Given the description of an element on the screen output the (x, y) to click on. 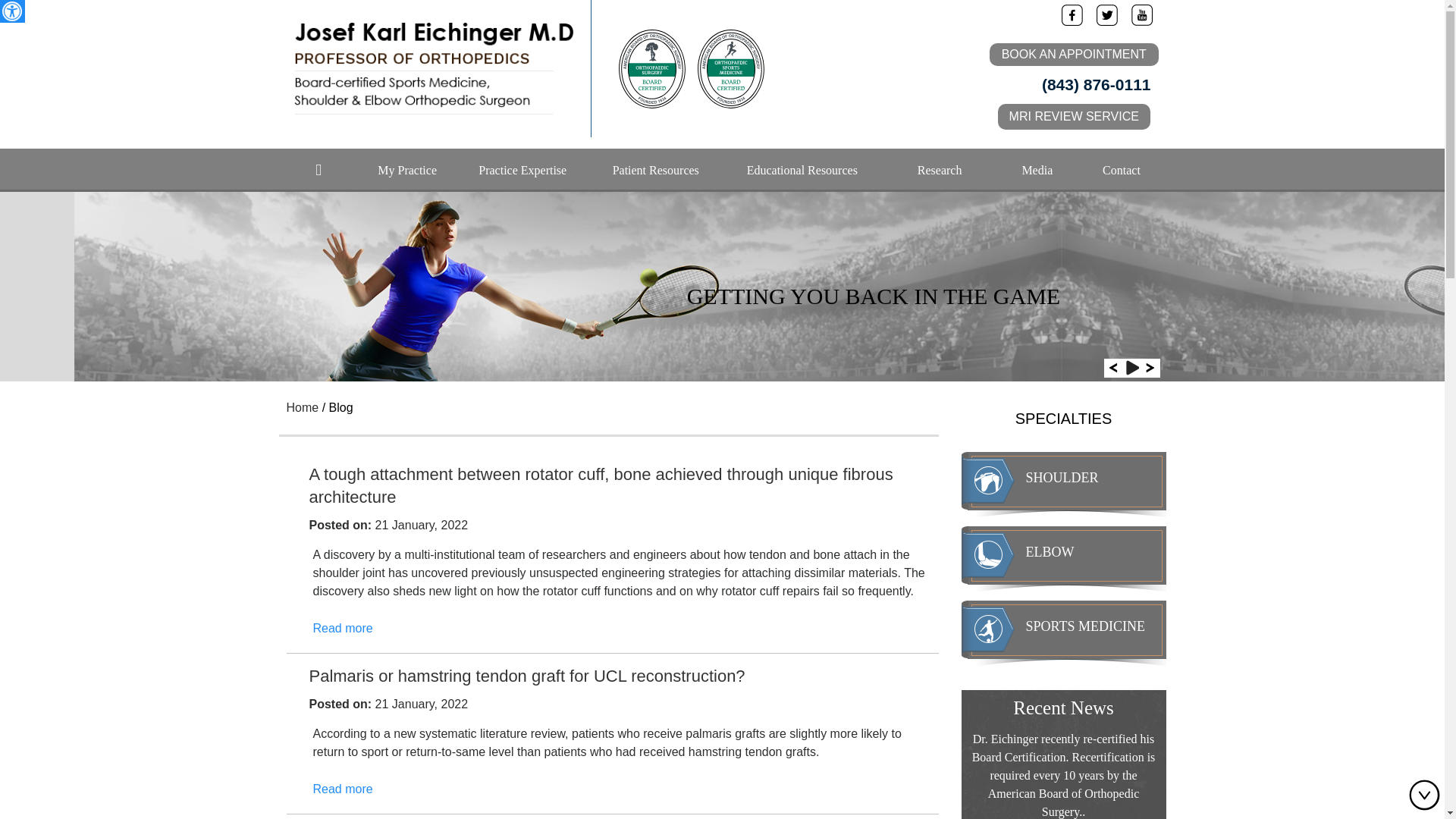
Switch to Accessibility Site (12, 11)
Previous Slide (1112, 367)
Practice Expertise (522, 169)
BOOK AN APPOINTMENT (1073, 54)
Patient Resources (655, 169)
My Practice (407, 169)
MRI REVIEW SERVICE (1073, 116)
Educational Resources (802, 169)
Home (318, 169)
Next Slide (1149, 367)
